Given the description of an element on the screen output the (x, y) to click on. 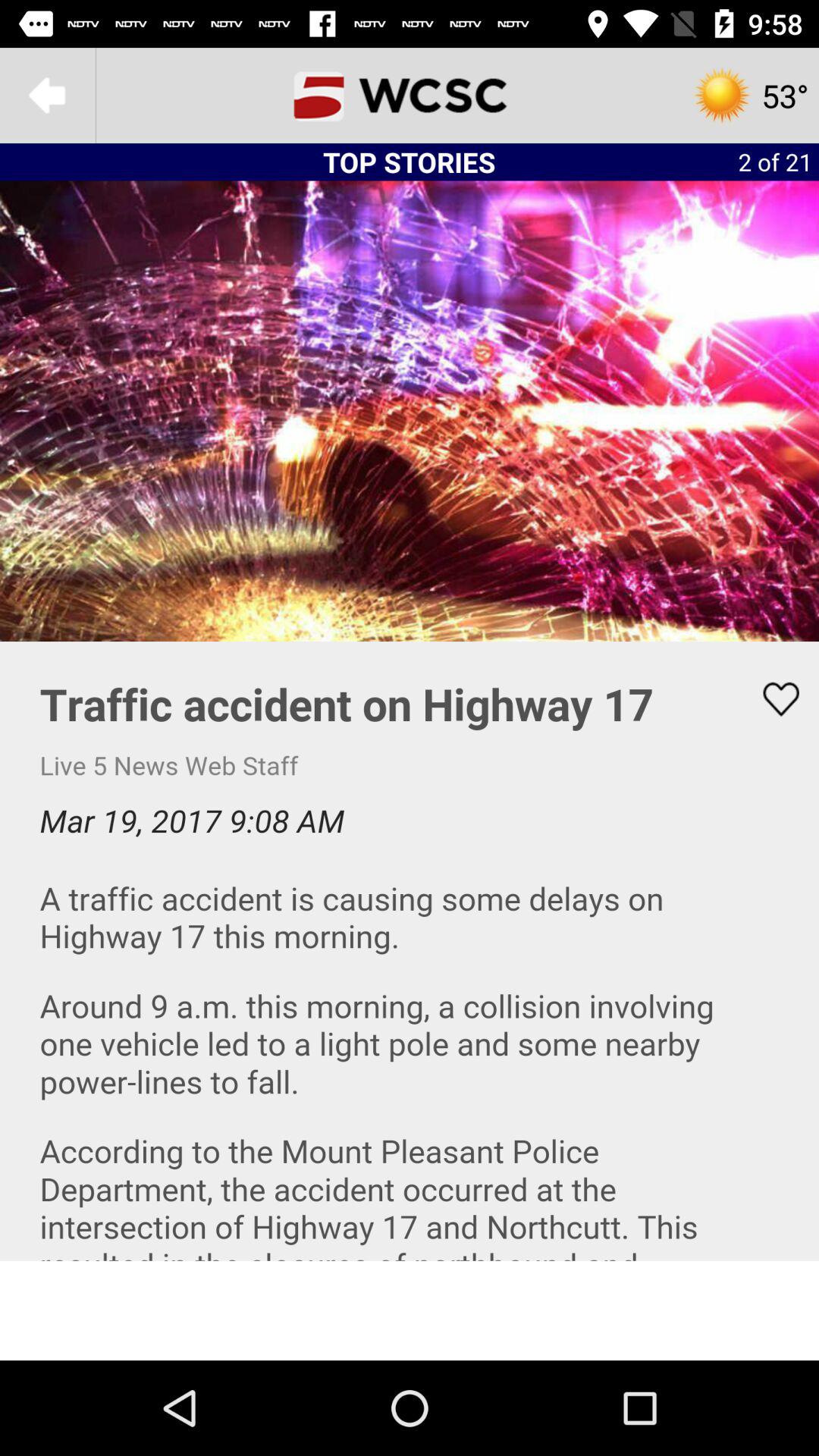
color print (409, 950)
